Given the description of an element on the screen output the (x, y) to click on. 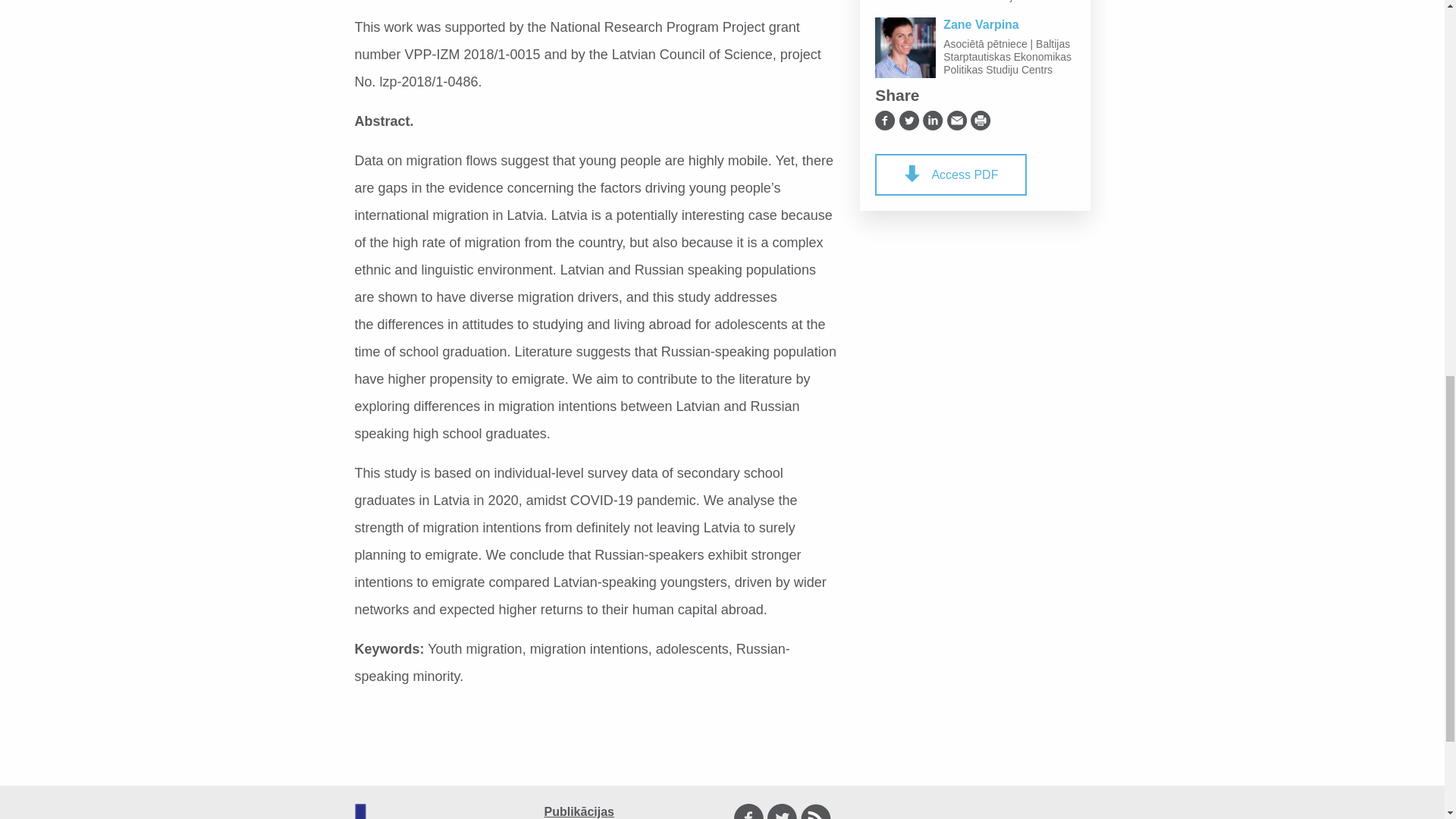
Share on LinkedIn (933, 120)
Share on Facebook (885, 120)
Share on Twitter (909, 120)
Share via Email (957, 120)
Share via Email (957, 120)
RSS (815, 811)
Twitter (782, 811)
Share on LinkedIn (933, 120)
Print (981, 120)
Share on Twitter (909, 120)
